Given the description of an element on the screen output the (x, y) to click on. 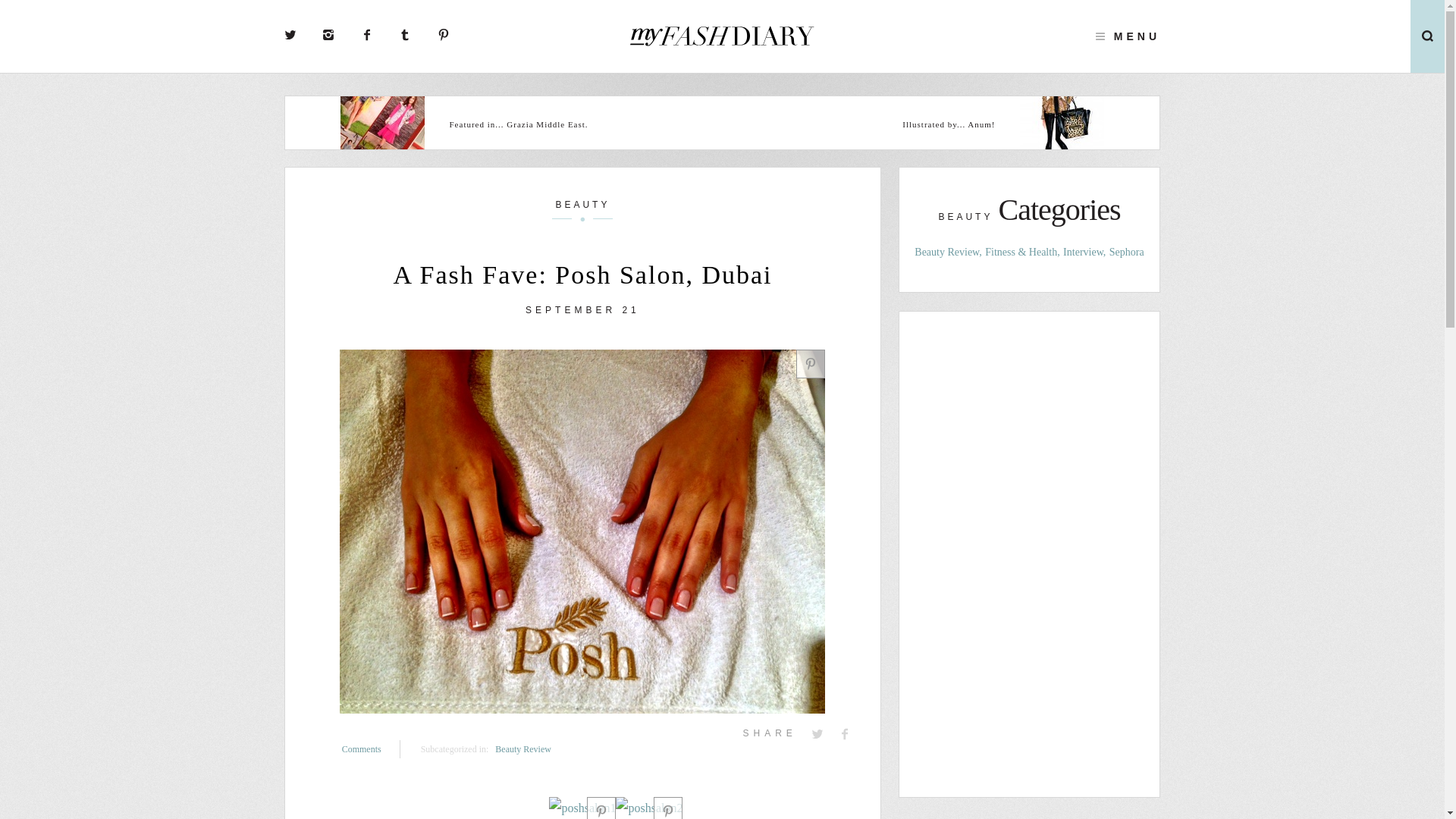
Featured in... Grazia Middle East. (563, 123)
poshsalon1 (581, 807)
BEAUTY (582, 209)
Comments (371, 749)
poshsalon2 (648, 807)
Beauty Review (523, 749)
Illustrated by... Anum! (879, 123)
